Given the description of an element on the screen output the (x, y) to click on. 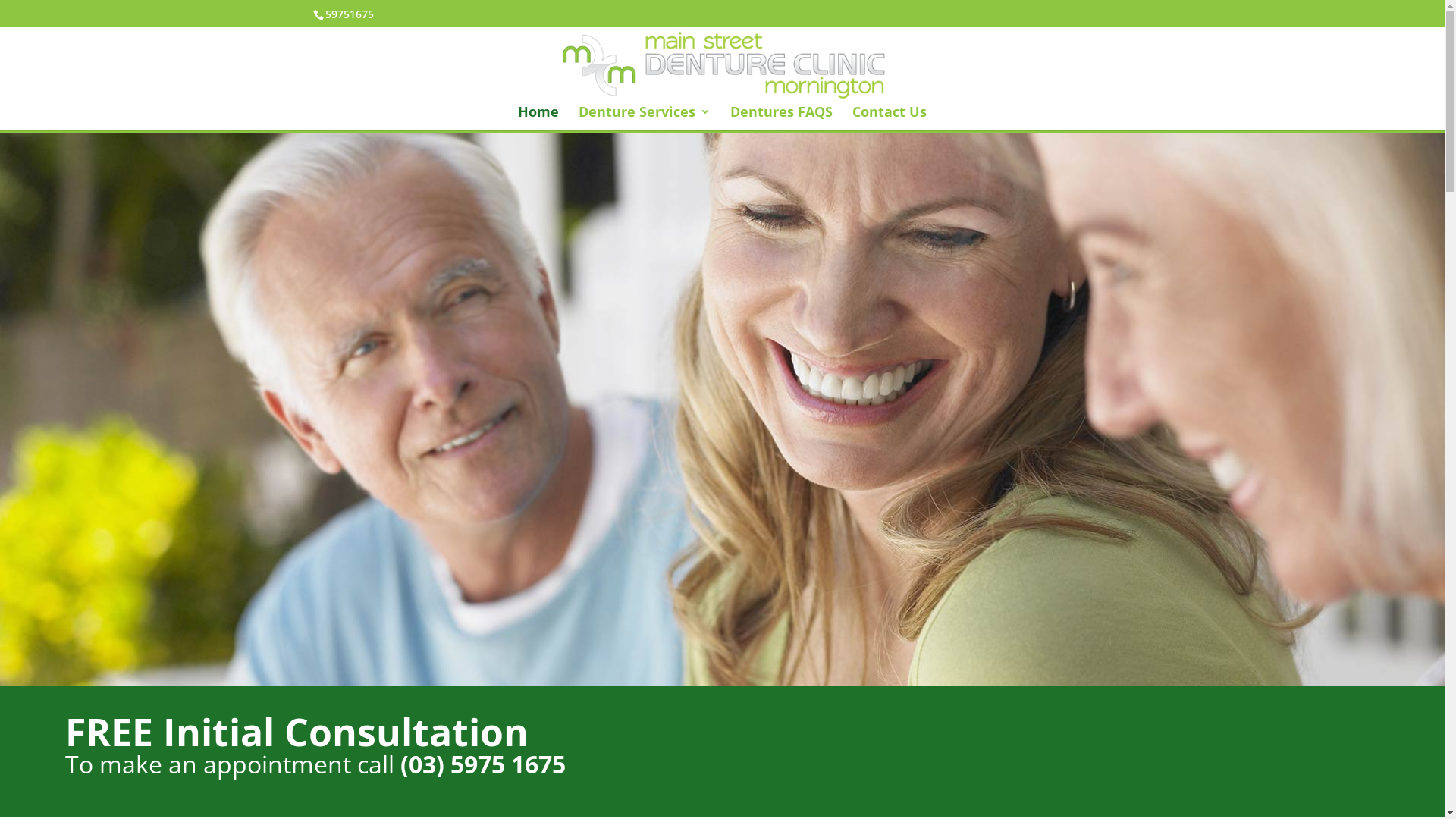
59751675 Element type: text (348, 13)
Denture Services Element type: text (644, 118)
5975 1675 Element type: text (507, 768)
Contact Us Element type: text (889, 118)
Dentures FAQS Element type: text (781, 118)
Home Element type: text (537, 118)
